Given the description of an element on the screen output the (x, y) to click on. 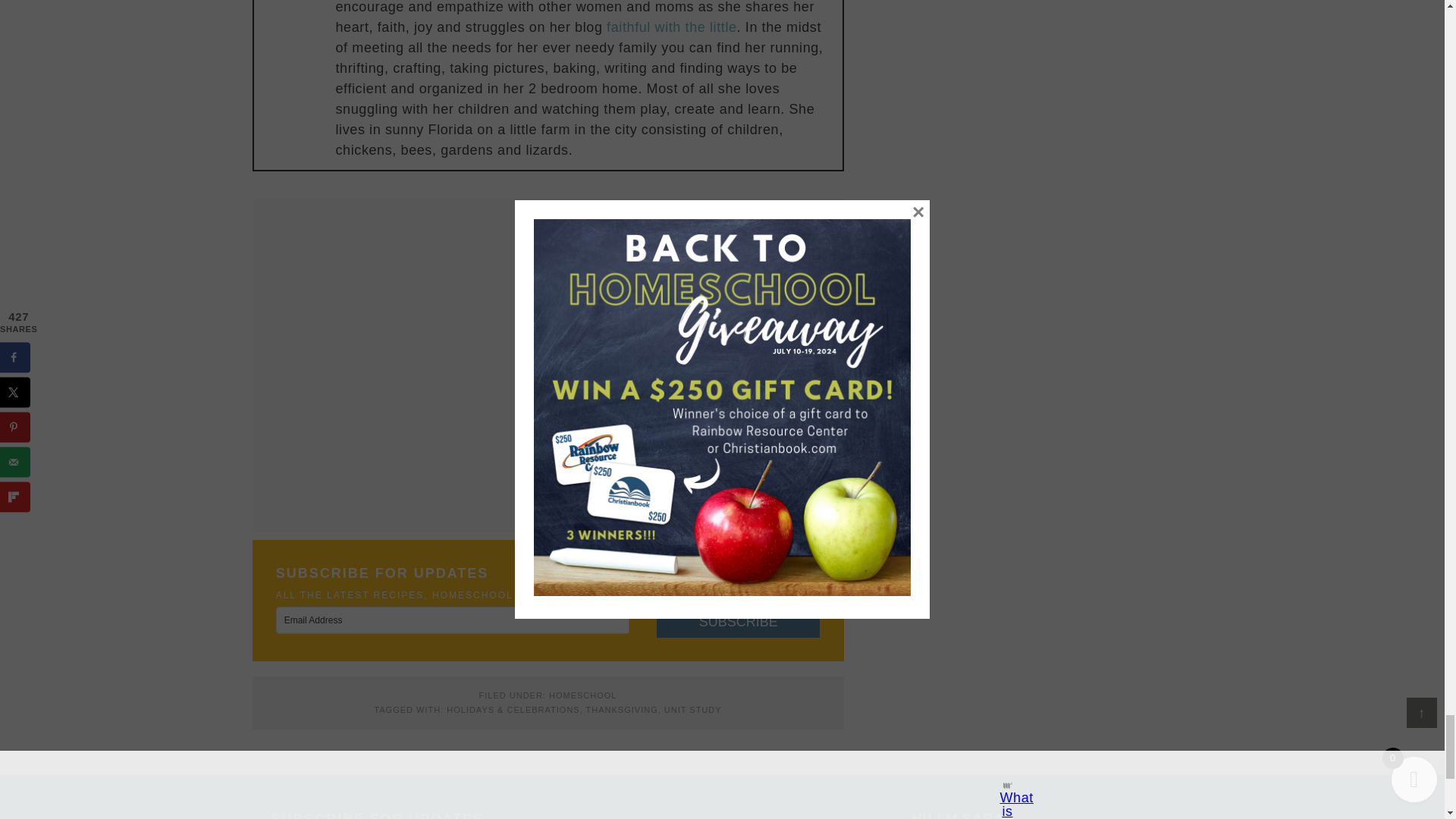
Facebook (272, 1)
Instagram (311, 1)
